Given the description of an element on the screen output the (x, y) to click on. 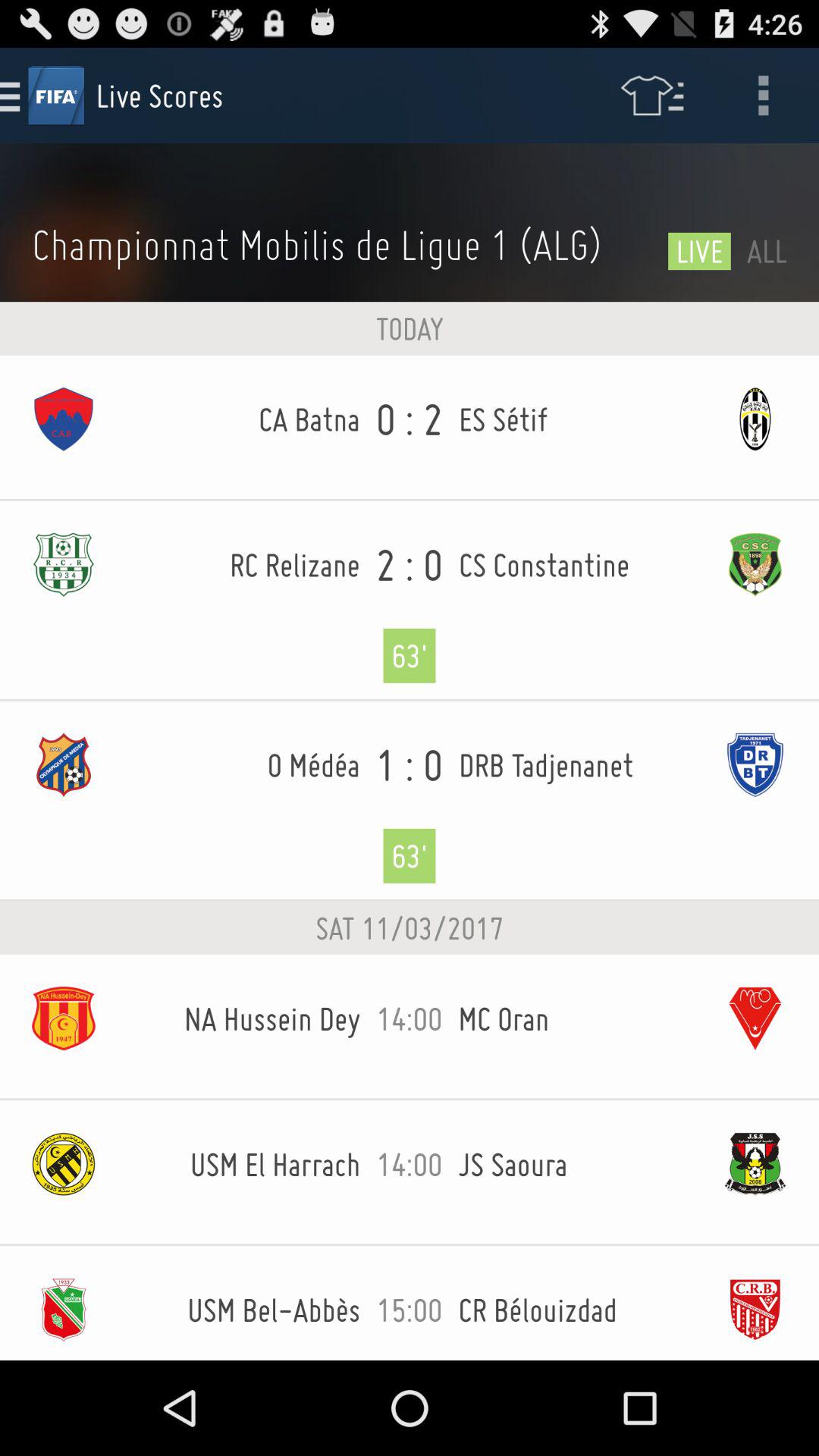
tap icon to the left of the 2 : 0 icon (243, 564)
